Given the description of an element on the screen output the (x, y) to click on. 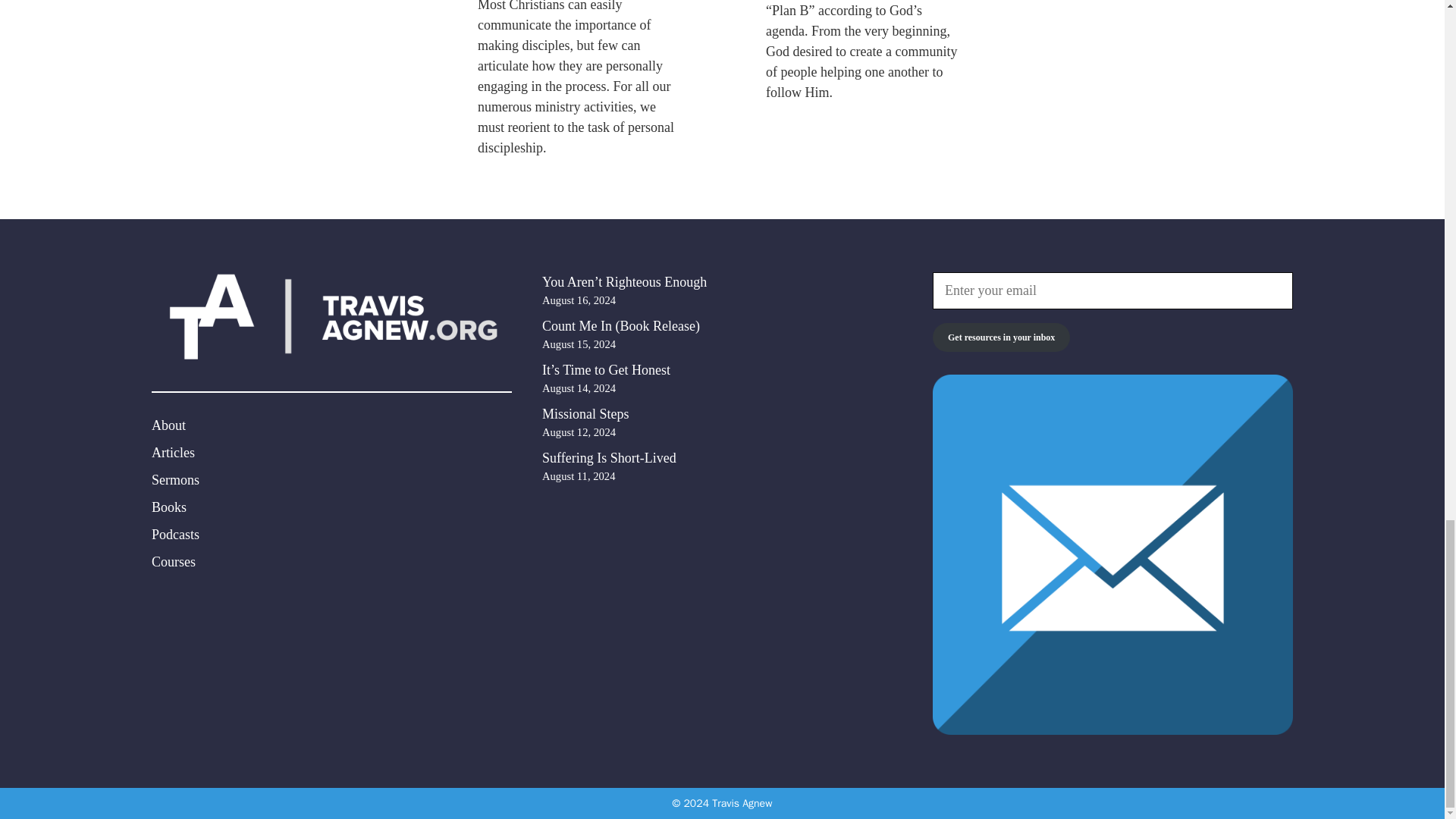
Scroll back to top (1406, 87)
Enter your email (1112, 290)
